Given the description of an element on the screen output the (x, y) to click on. 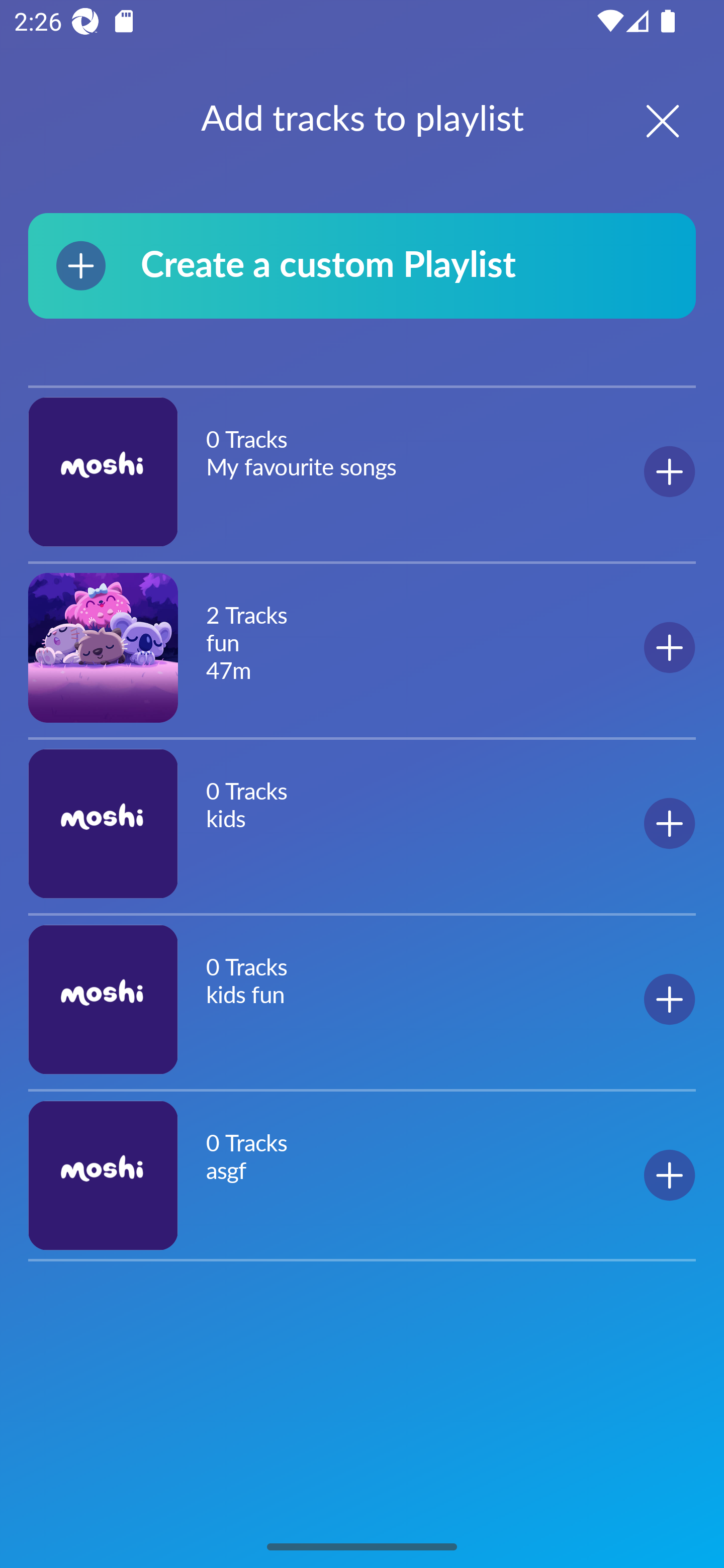
Close (645, 120)
Create a custom Playlist (361, 265)
0 Tracks My favourite songs (361, 471)
2 Tracks fun 47m (361, 647)
0 Tracks kids (361, 823)
0 Tracks kids fun (361, 998)
0 Tracks asgf (361, 1174)
